Given the description of an element on the screen output the (x, y) to click on. 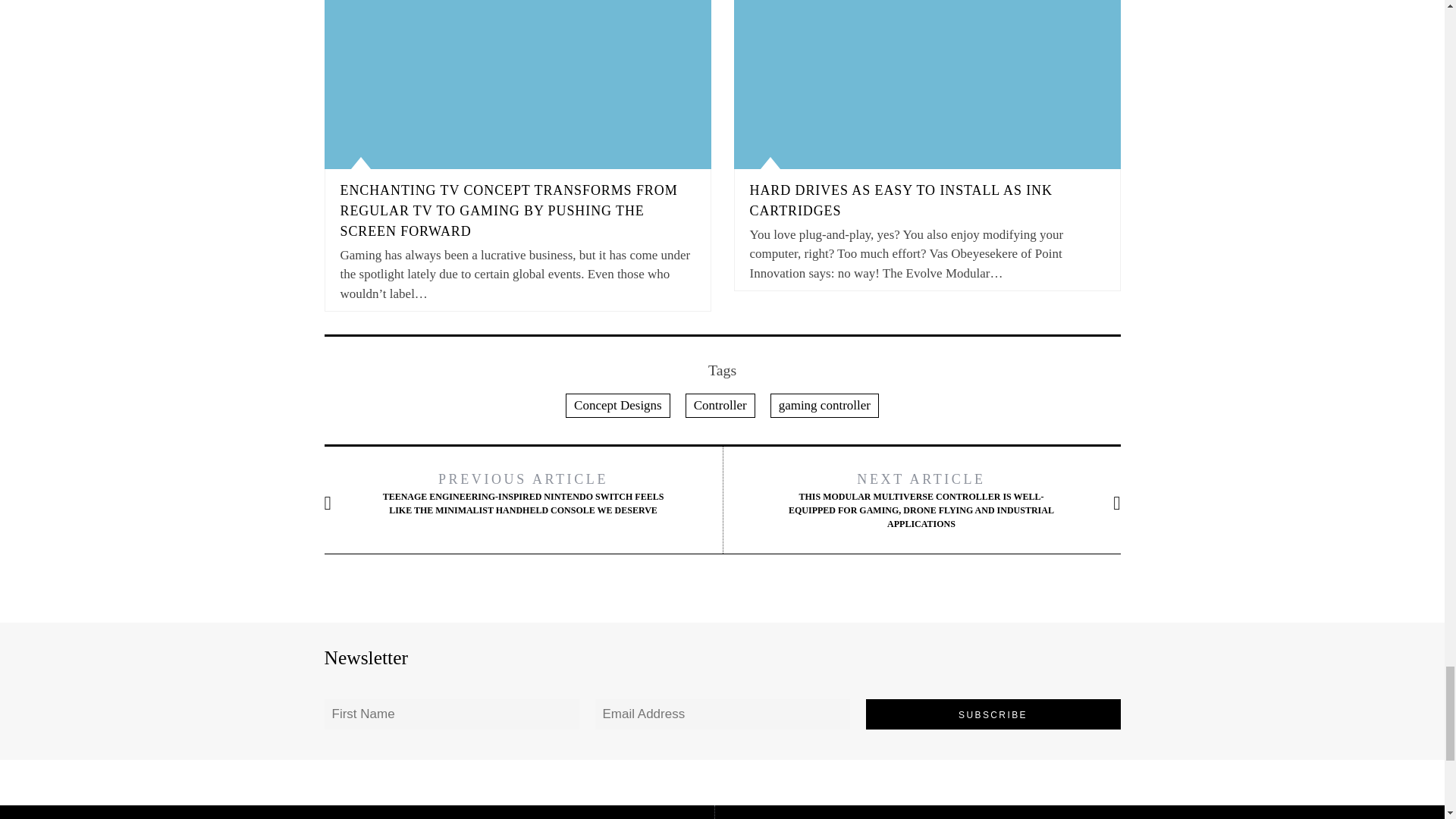
Subscribe (993, 714)
